Given the description of an element on the screen output the (x, y) to click on. 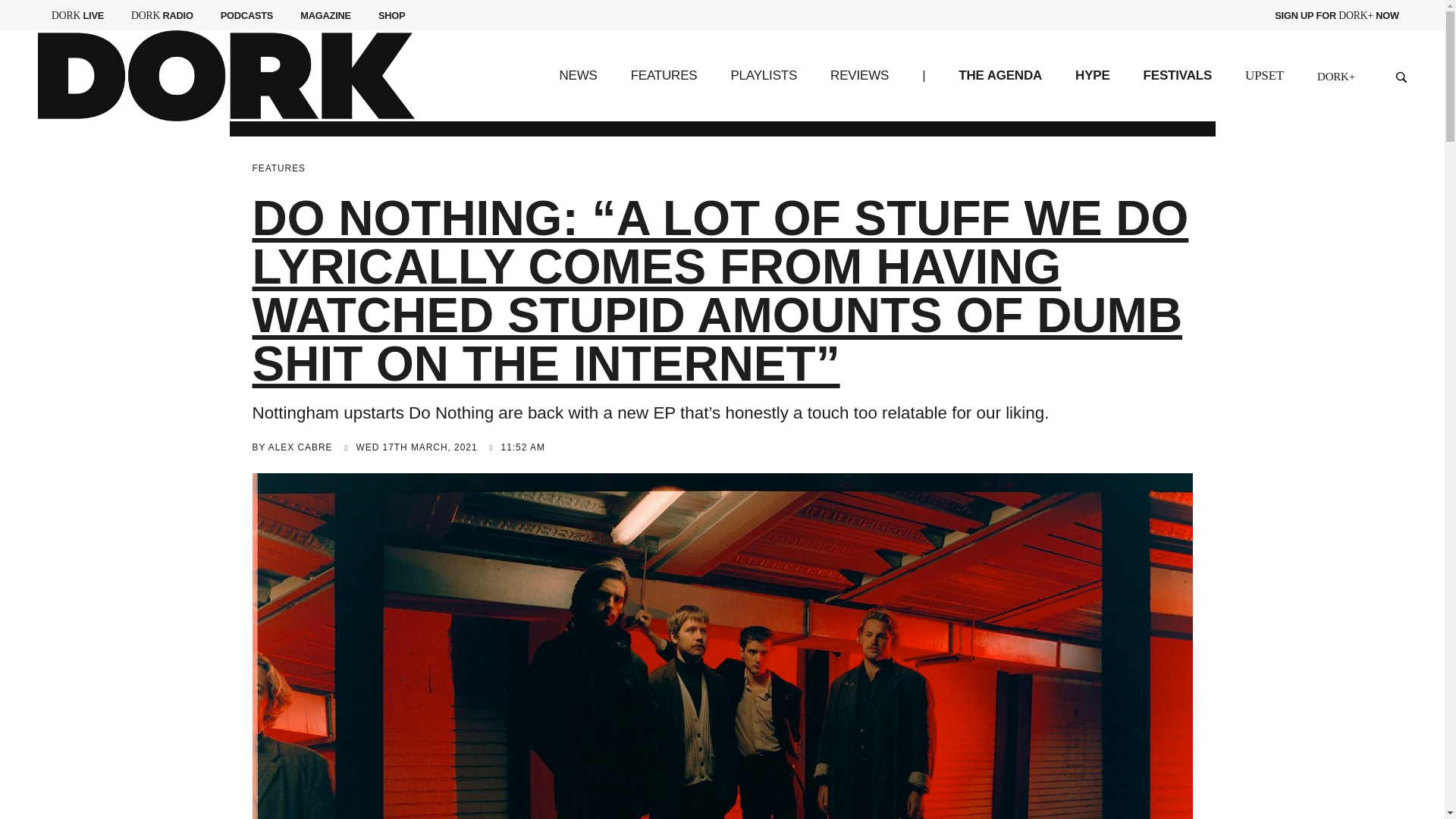
SHOP (391, 15)
PLAYLISTS (161, 15)
THE AGENDA (763, 75)
FESTIVALS (999, 75)
FEATURES (77, 15)
MAGAZINE (1177, 75)
PODCASTS (663, 75)
